Given the description of an element on the screen output the (x, y) to click on. 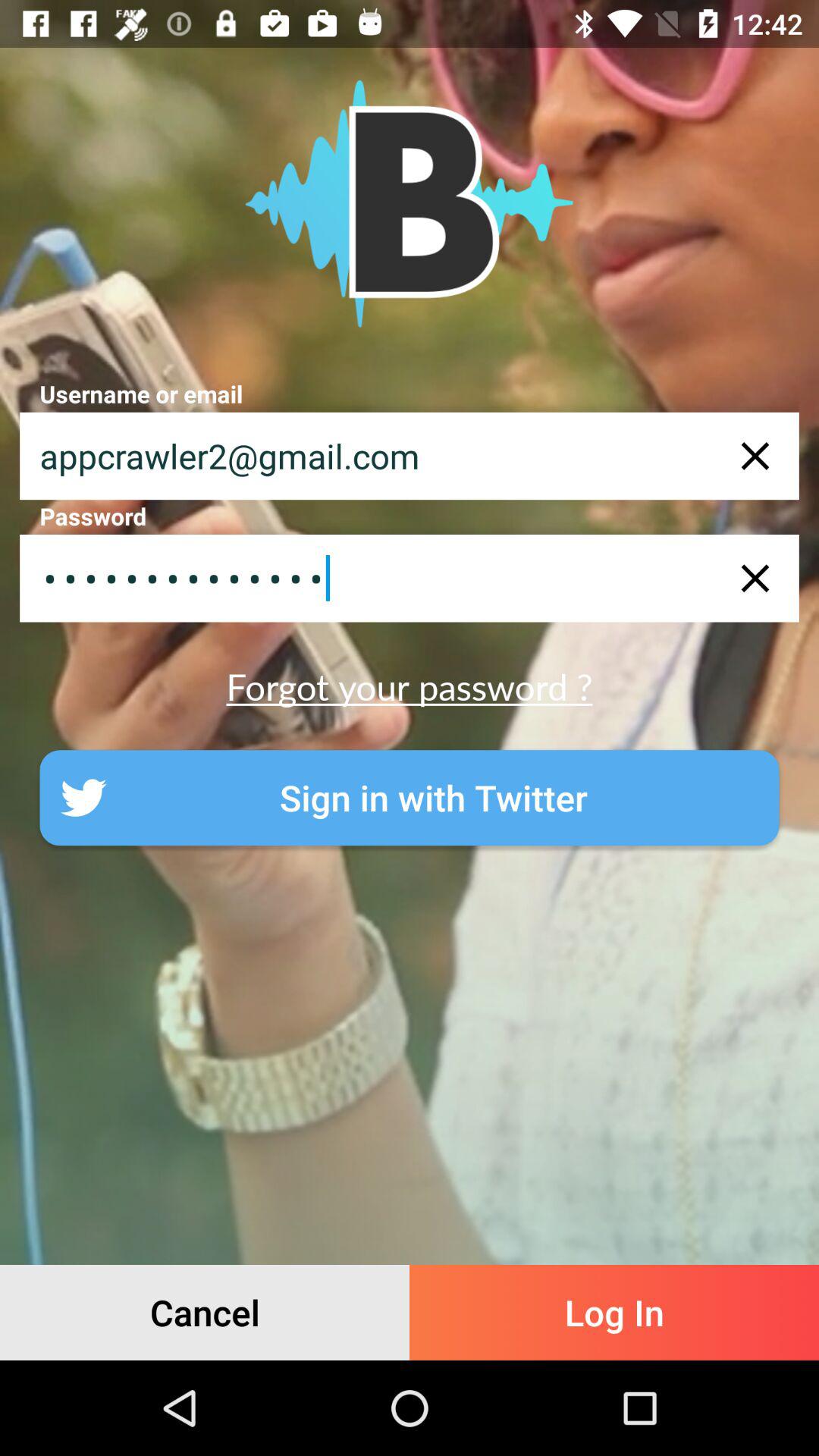
press the forgot your password ? item (409, 686)
